Given the description of an element on the screen output the (x, y) to click on. 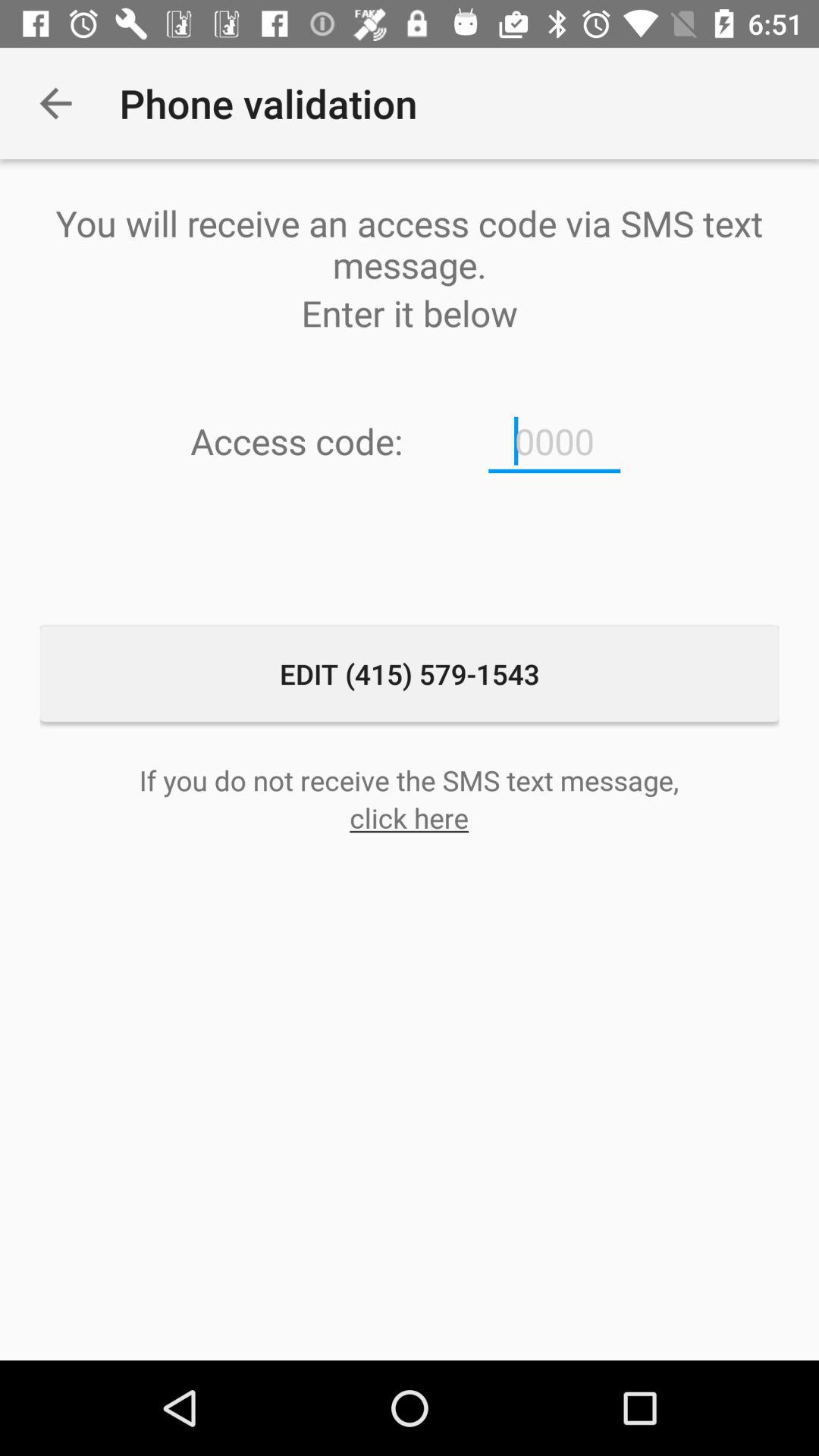
enter access code (554, 441)
